Given the description of an element on the screen output the (x, y) to click on. 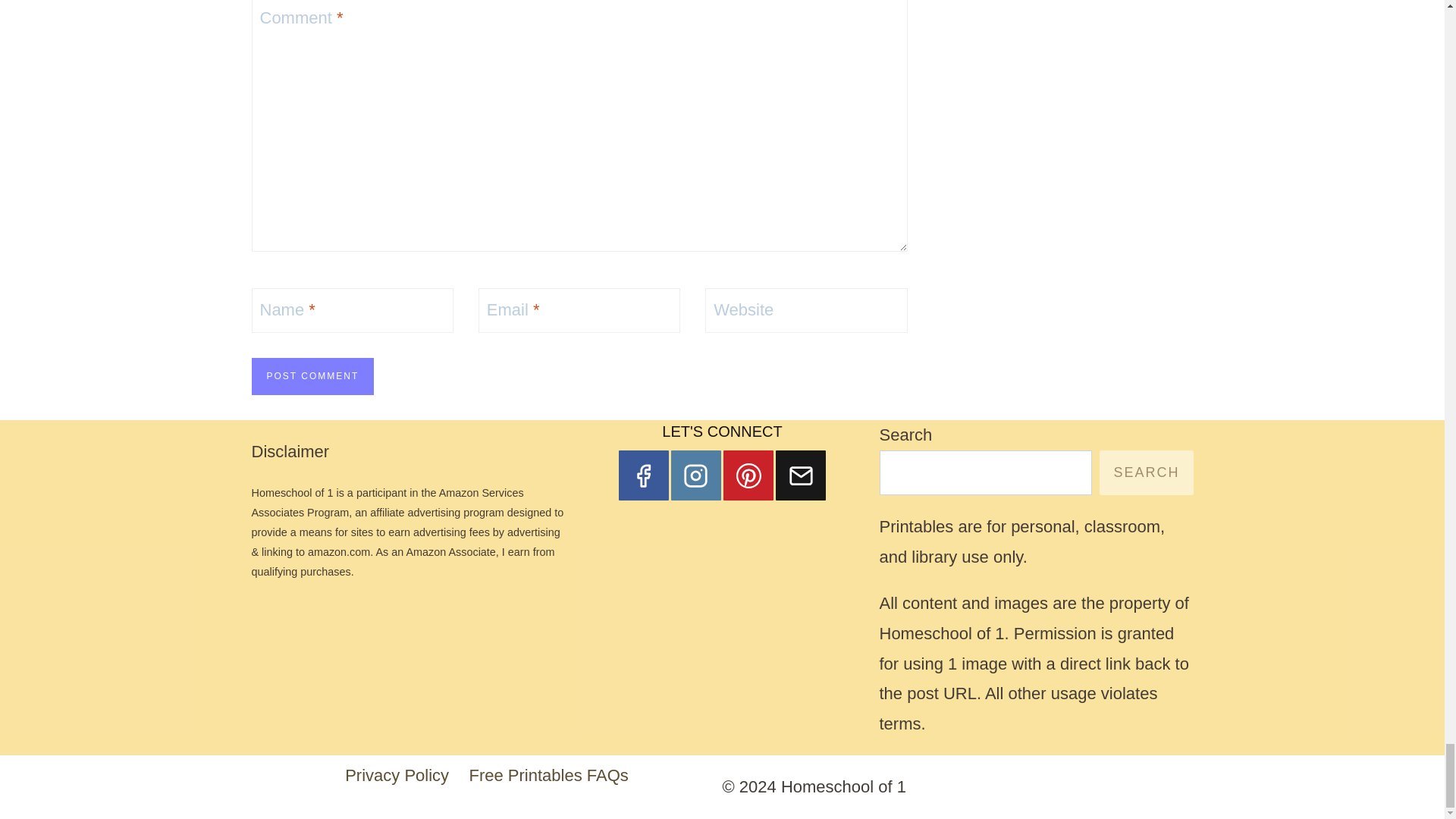
Post Comment (312, 375)
